Given the description of an element on the screen output the (x, y) to click on. 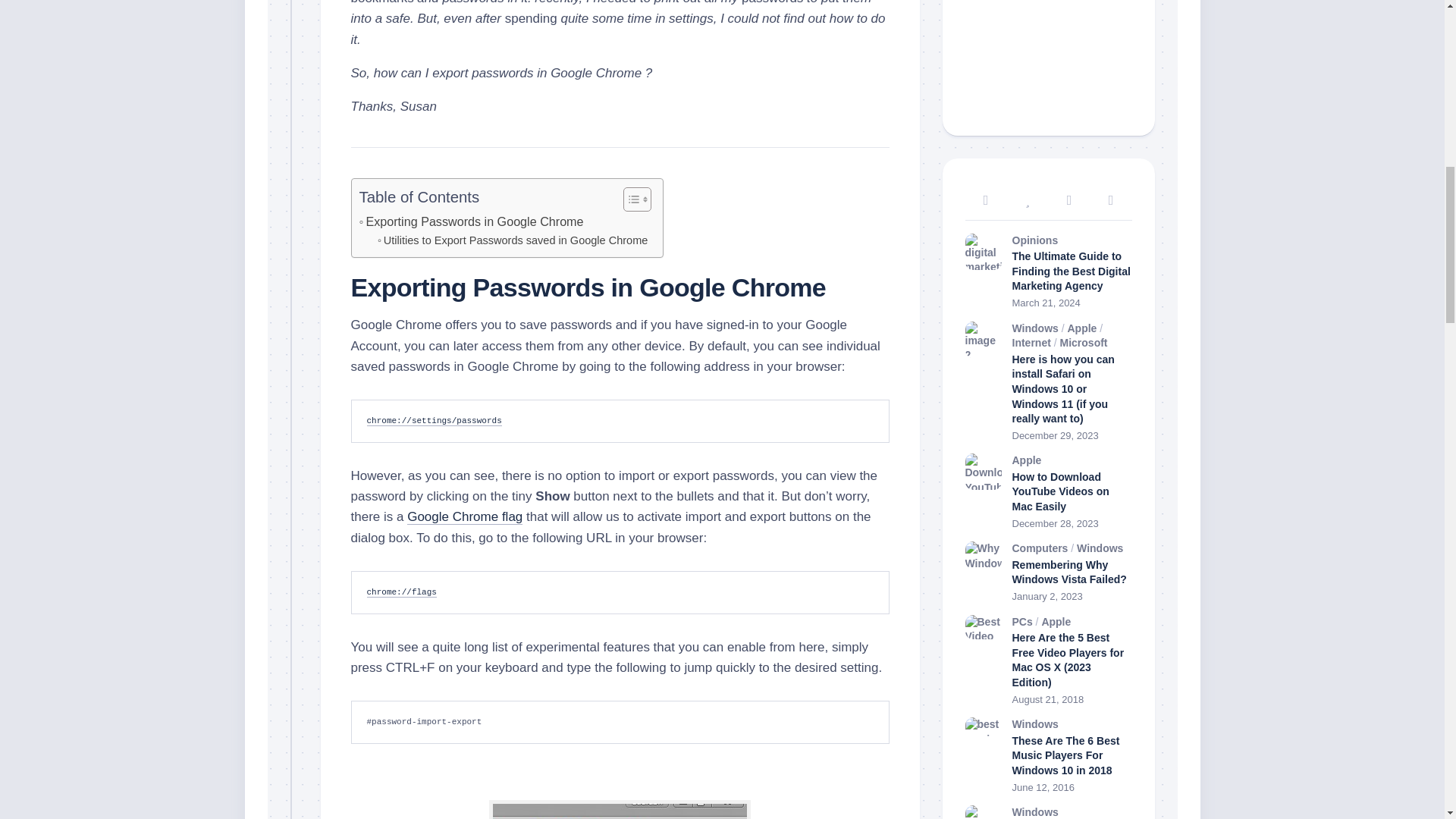
Tags (1111, 200)
Utilities to Export Passwords saved in Google Chrome (512, 240)
Utilities to Export Passwords saved in Google Chrome (512, 240)
Popular Posts (1027, 200)
Exporting Passwords in Google Chrome (471, 221)
Recent Comments (1068, 200)
Exporting Passwords in Google Chrome (471, 221)
Recent Posts (984, 200)
